Given the description of an element on the screen output the (x, y) to click on. 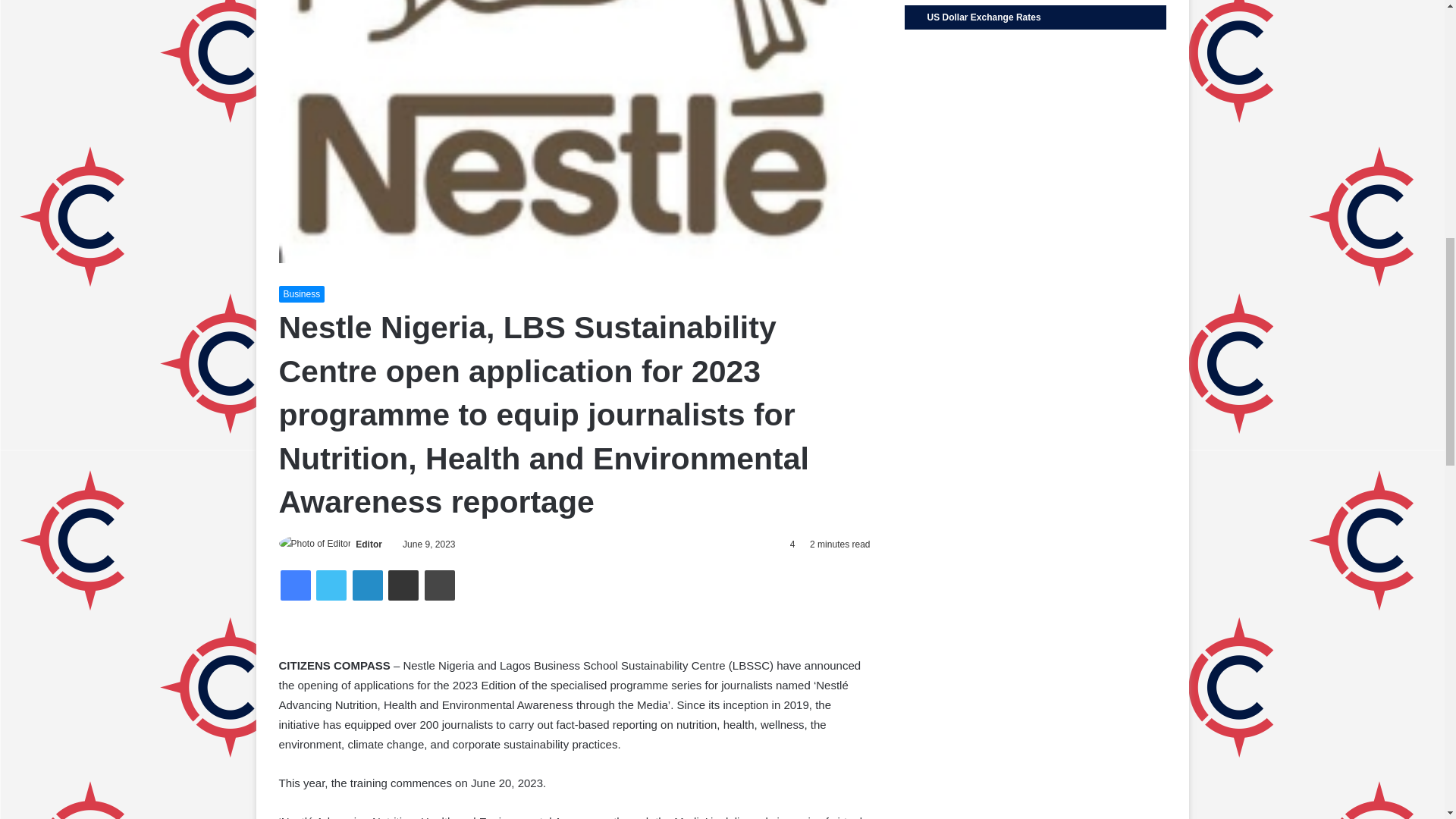
Share via Email (403, 585)
Share via Email (403, 585)
Business (301, 293)
Editor (368, 543)
Facebook (296, 585)
Twitter (330, 585)
Editor (368, 543)
Print (439, 585)
Print (439, 585)
LinkedIn (367, 585)
